Given the description of an element on the screen output the (x, y) to click on. 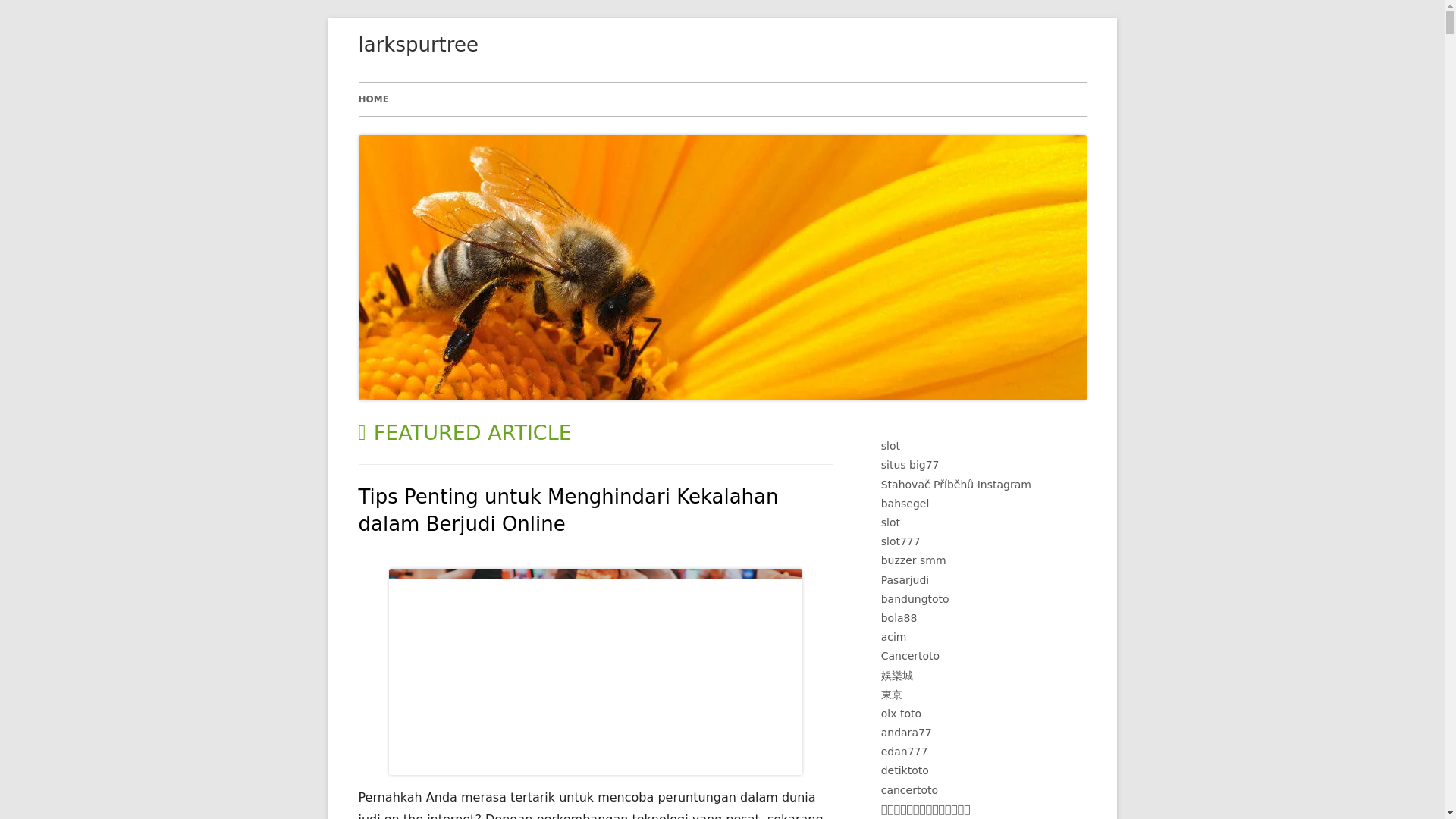
larkspurtree (417, 45)
HOME (373, 99)
